Given the description of an element on the screen output the (x, y) to click on. 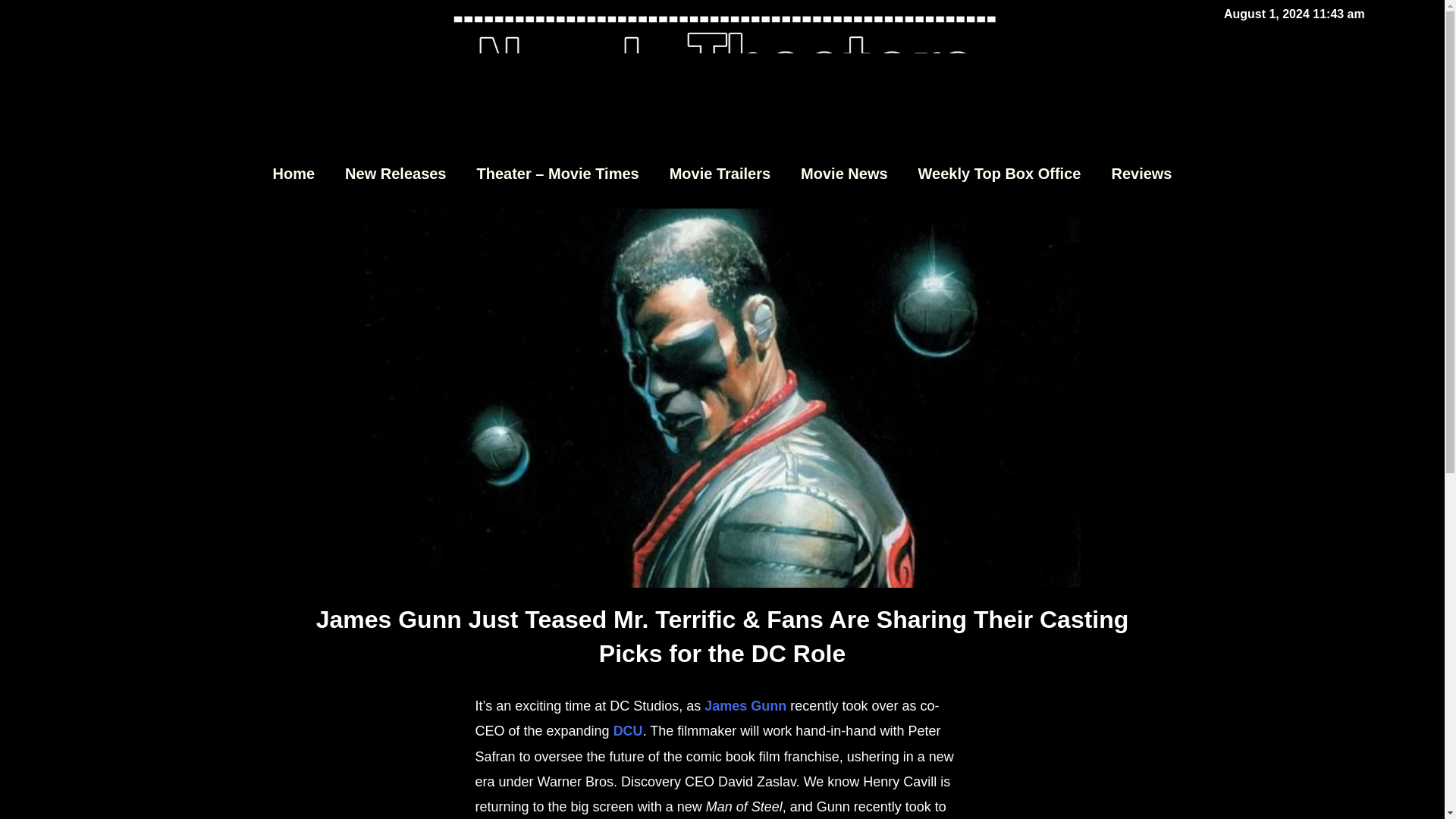
Movie News (844, 173)
Weekly Top Box Office (999, 173)
Reviews (1141, 173)
DCU (627, 730)
Home (293, 173)
James Gunn (745, 705)
New Releases (395, 173)
Movie Trailers (719, 173)
